Given the description of an element on the screen output the (x, y) to click on. 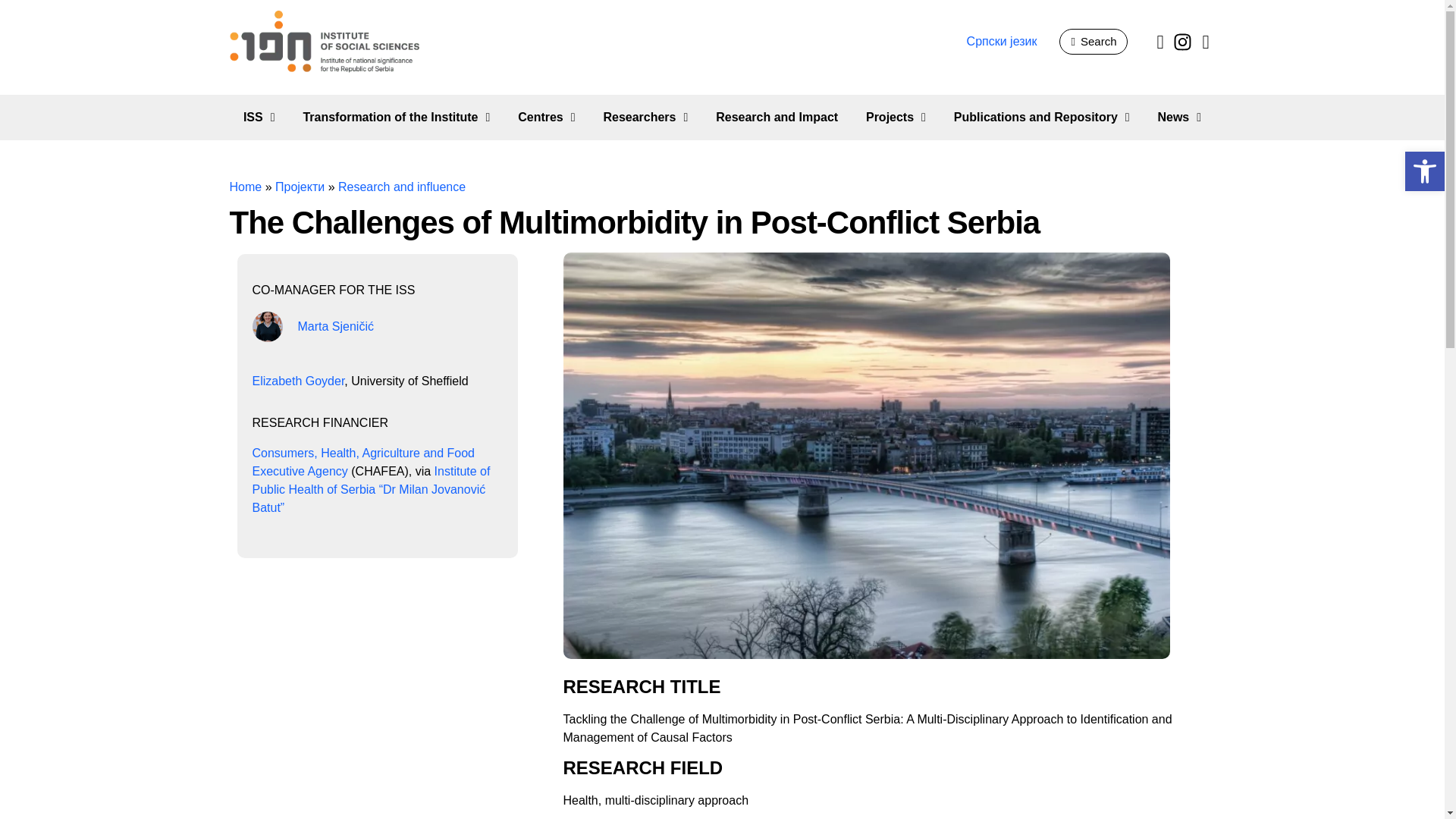
The Challenges of Multimorbidity in Post-Conflict Serbia 2 (865, 652)
Search (1092, 41)
ISS (258, 117)
Transformation of the Institute (395, 117)
